Given the description of an element on the screen output the (x, y) to click on. 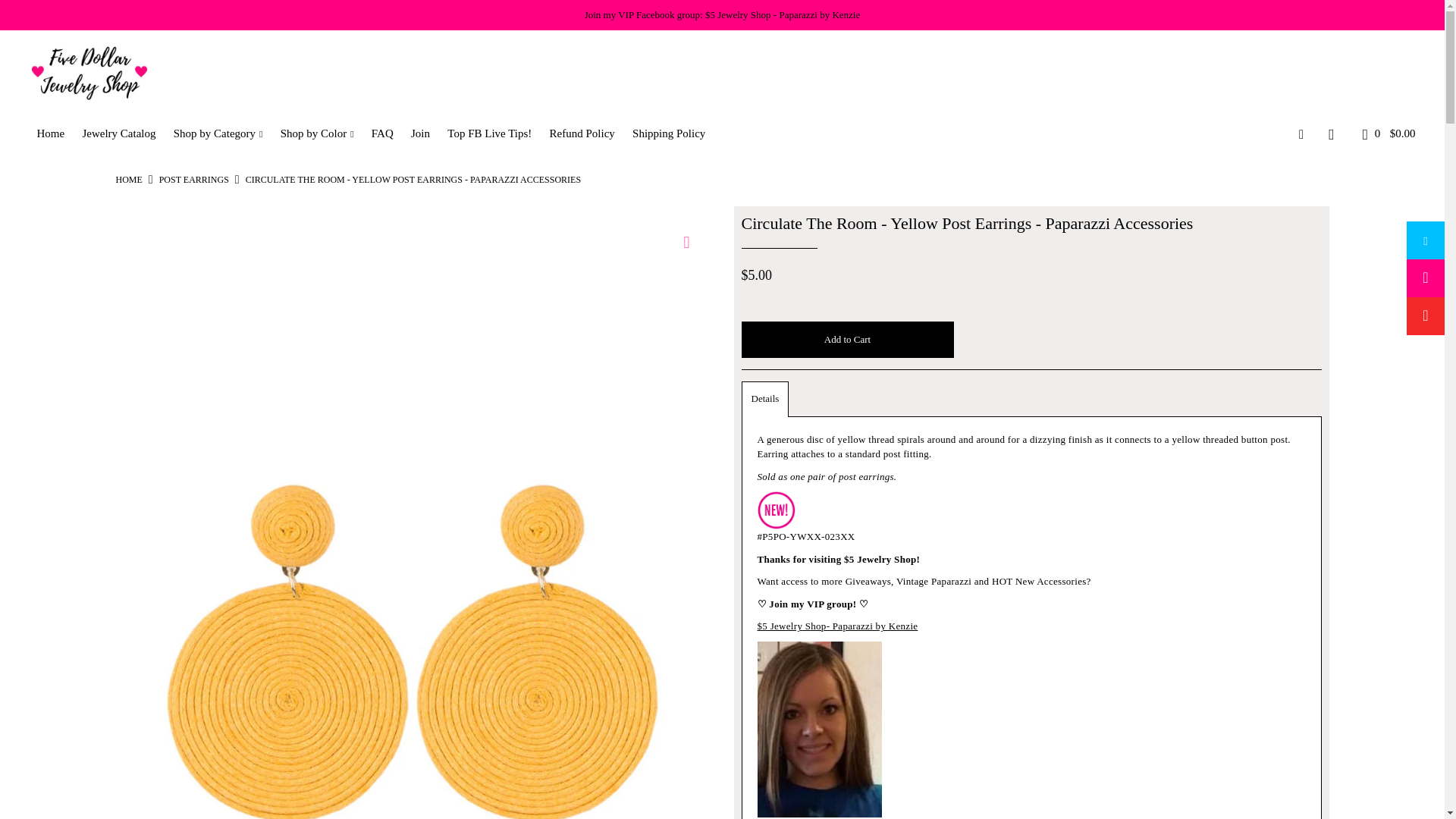
Post Earrings (193, 179)
Add to Cart (847, 339)
click to zoom-in (686, 241)
Home (128, 179)
